Given the description of an element on the screen output the (x, y) to click on. 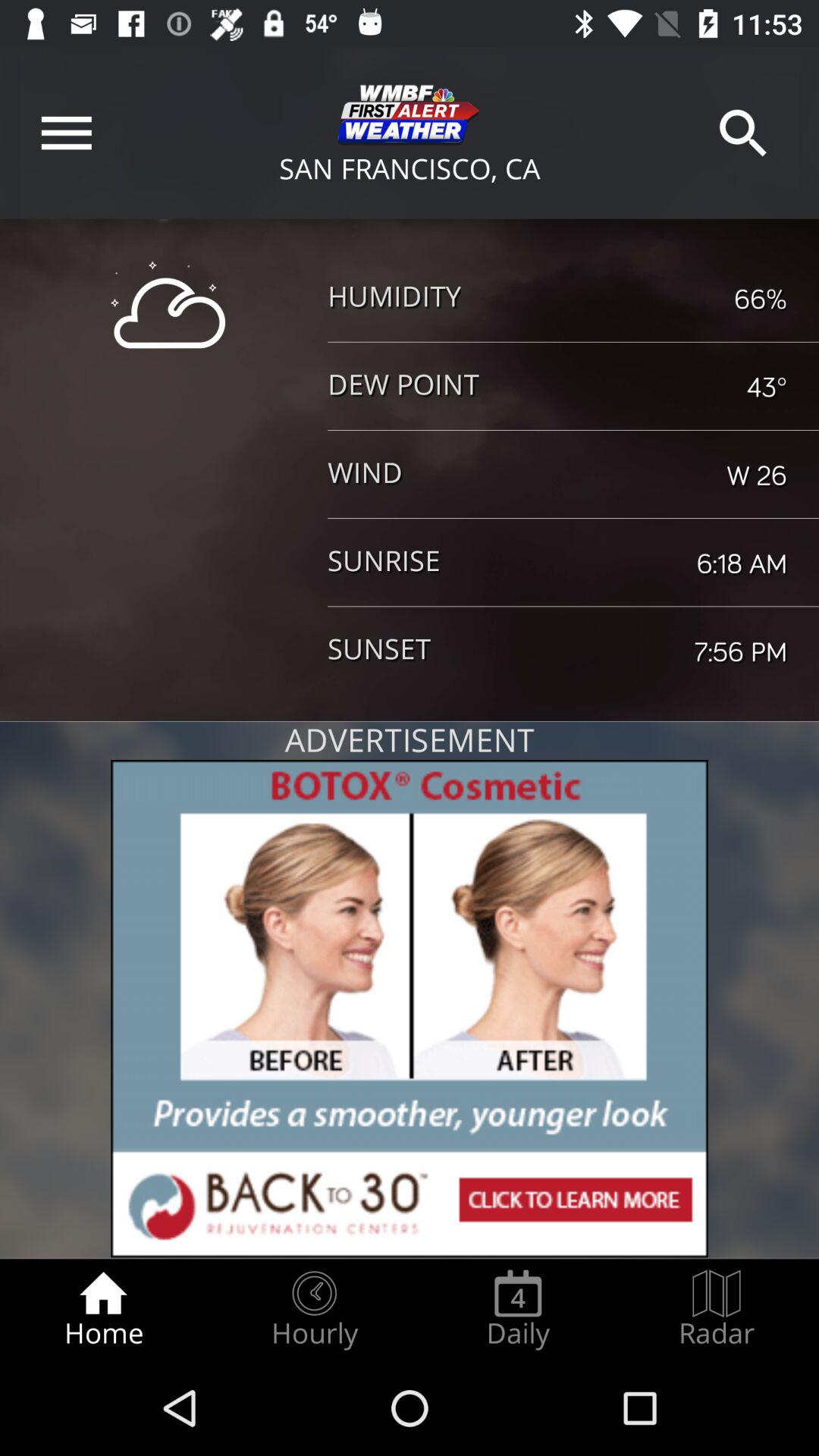
tap the daily icon (518, 1309)
